Given the description of an element on the screen output the (x, y) to click on. 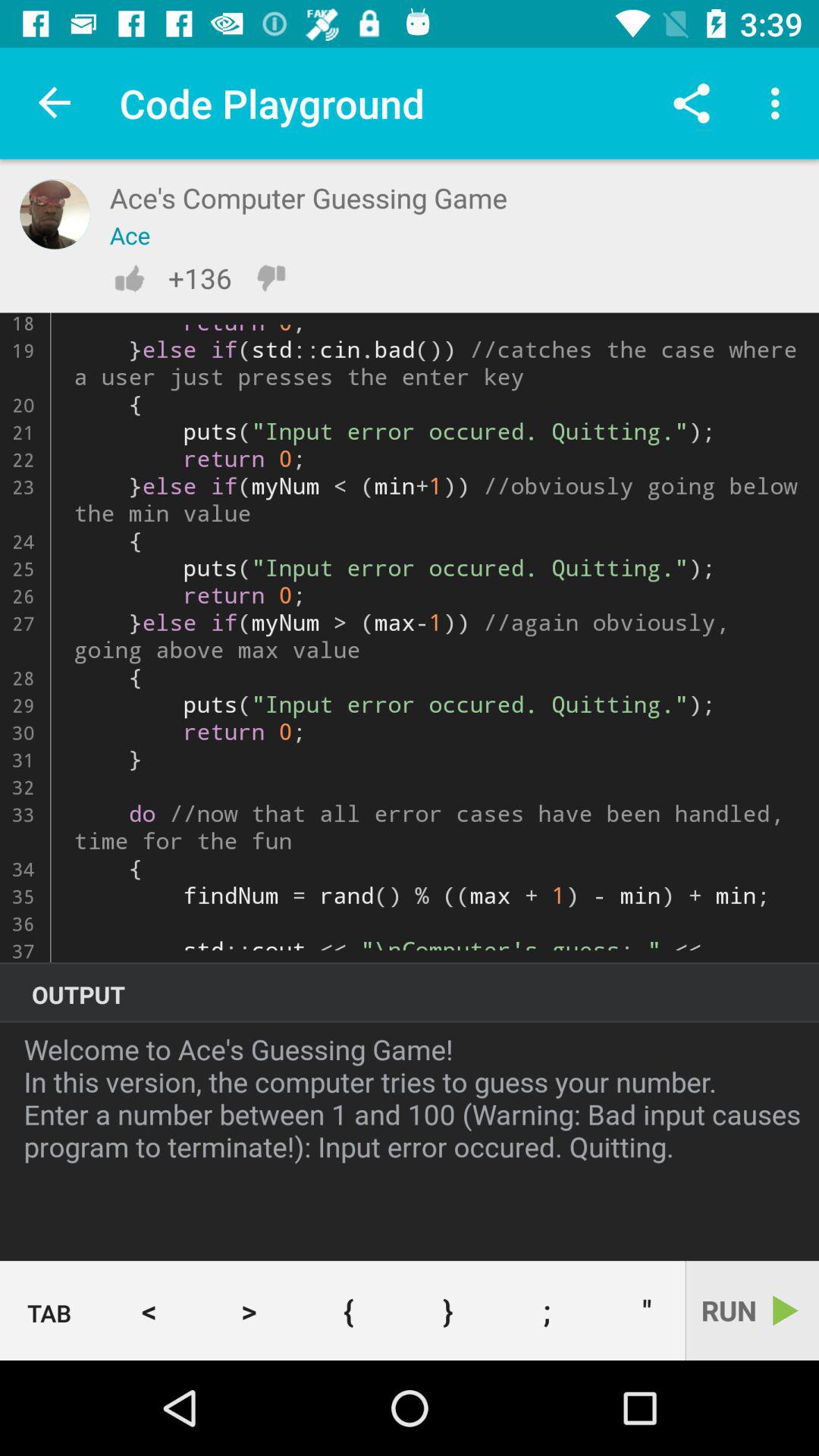
like the code (129, 277)
